Given the description of an element on the screen output the (x, y) to click on. 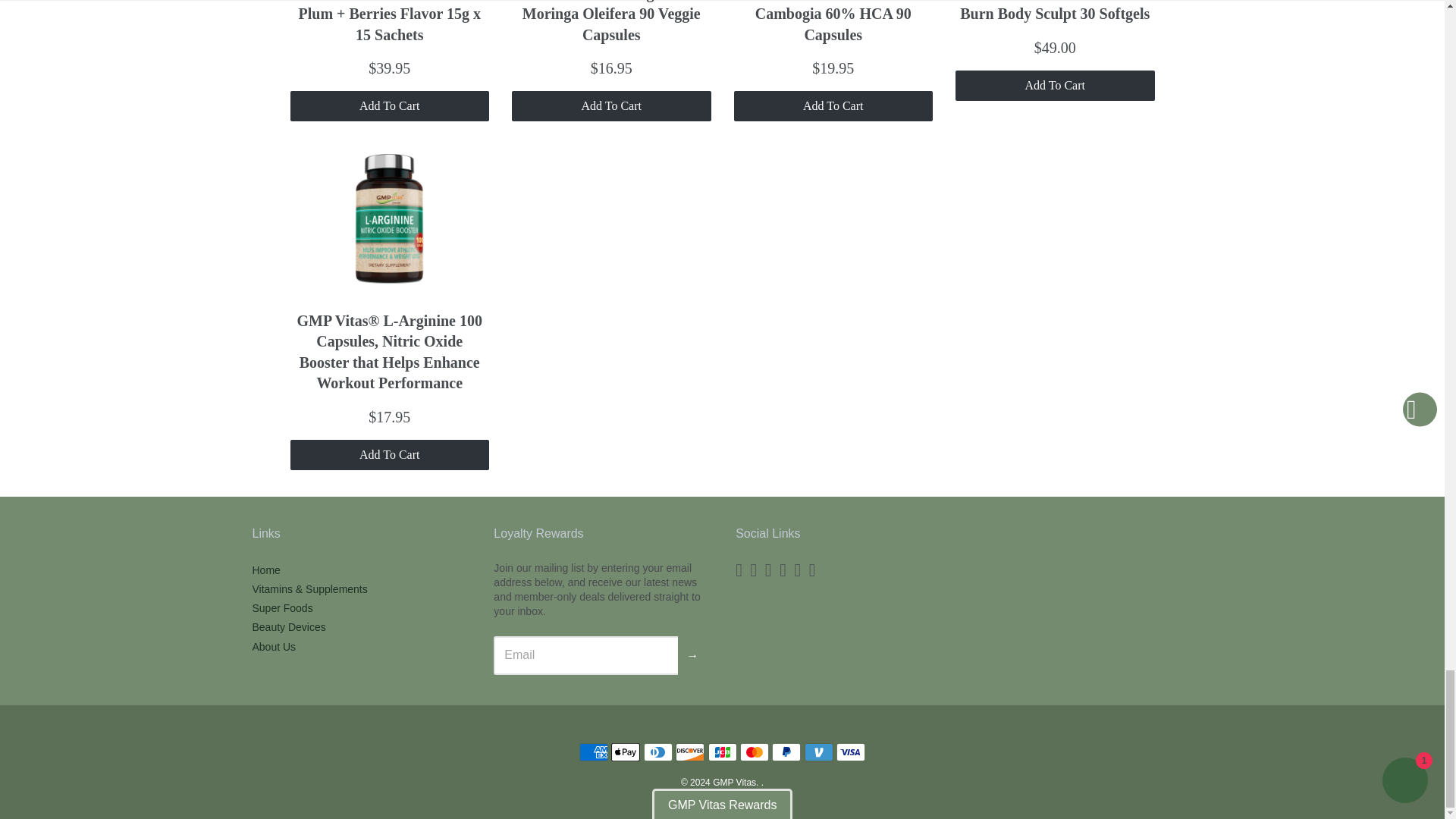
Venmo (818, 751)
Diners Club (657, 751)
Apple Pay (625, 751)
JCB (721, 751)
Mastercard (753, 751)
PayPal (785, 751)
American Express (593, 751)
Discover (689, 751)
Visa (849, 751)
